Given the description of an element on the screen output the (x, y) to click on. 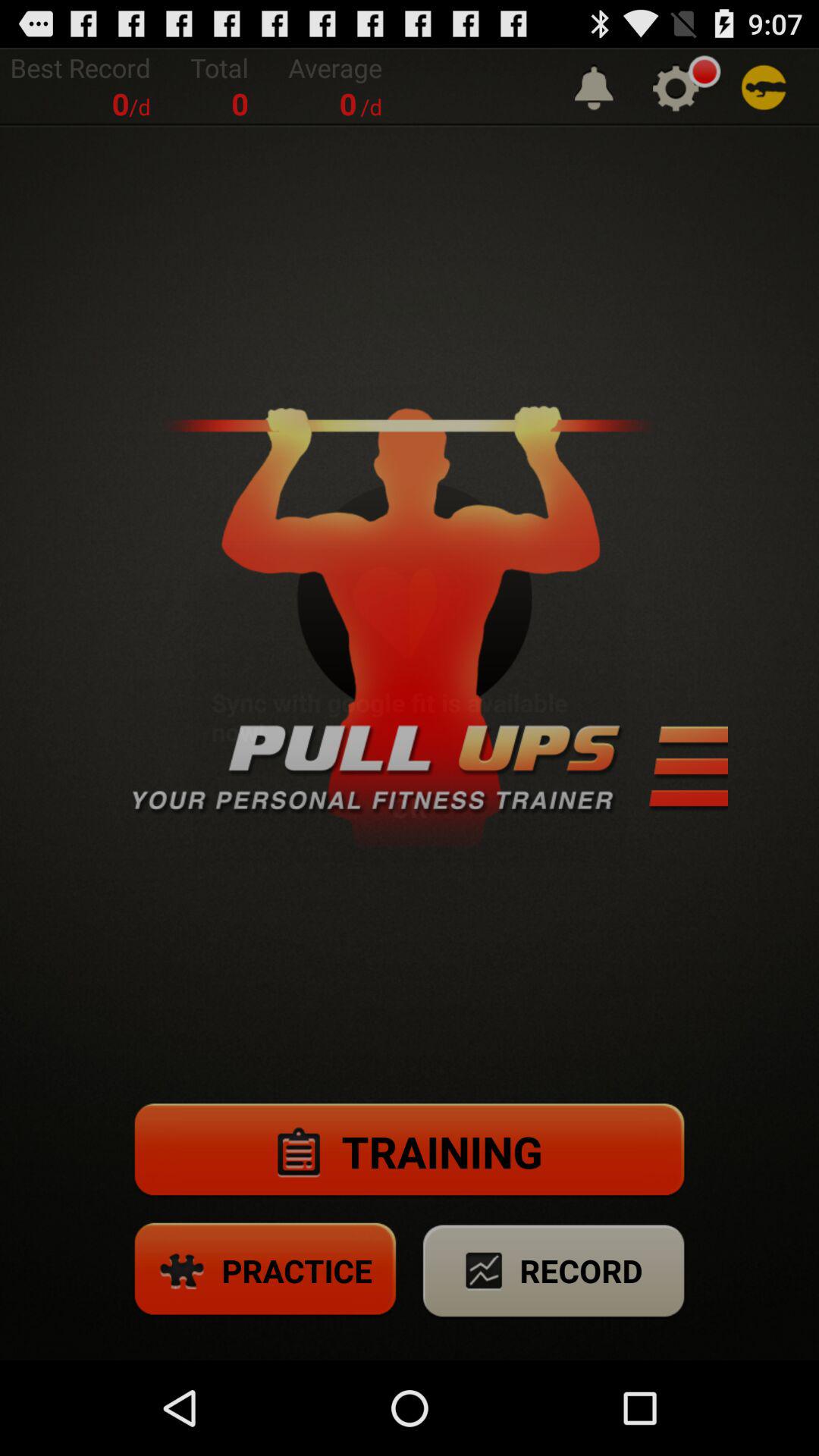
view settings (675, 87)
